Given the description of an element on the screen output the (x, y) to click on. 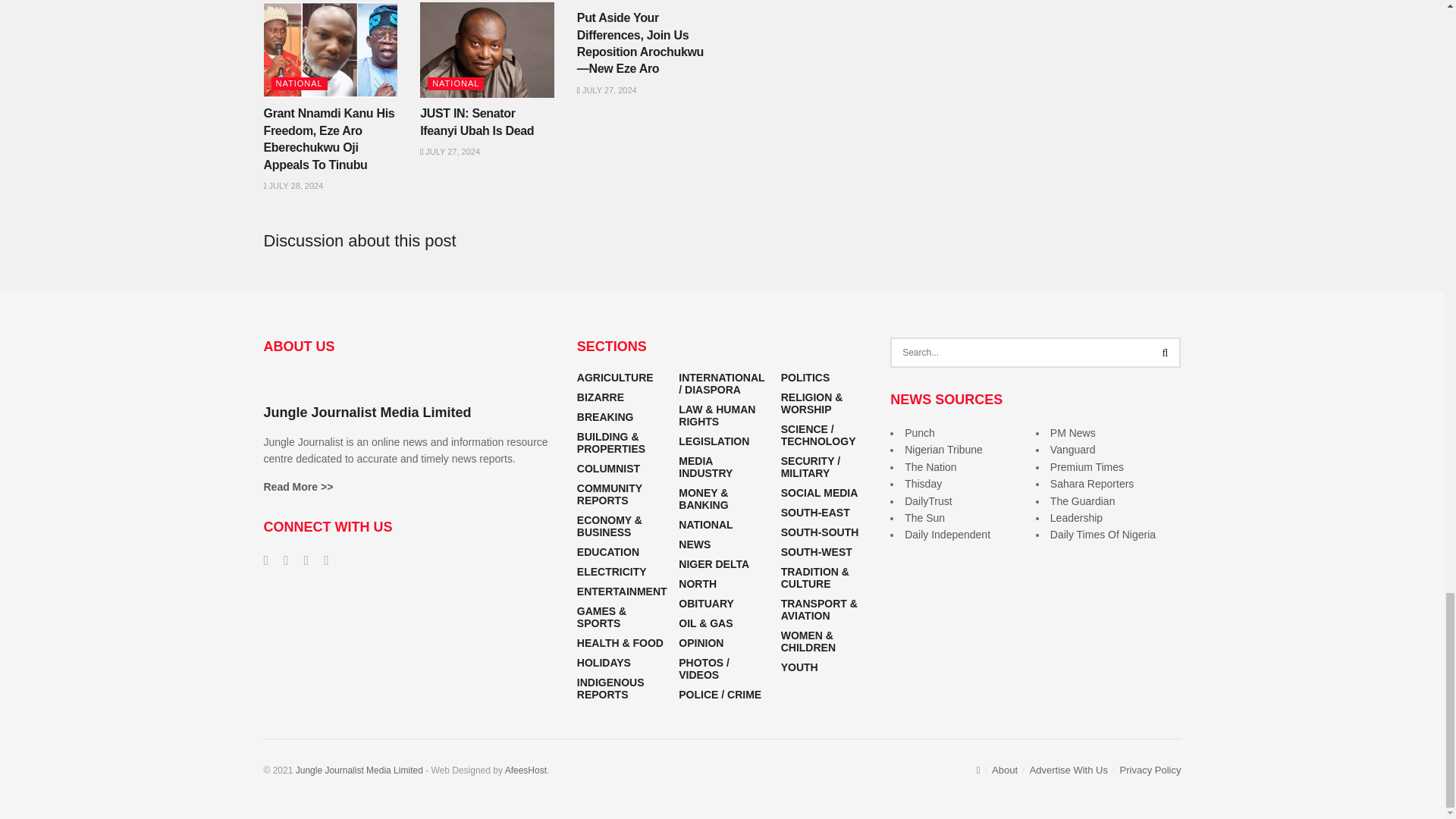
Web Hosting (526, 769)
Jungle Journalist Media Limited (359, 769)
About Jungle Journalist Media Limited (298, 486)
